Given the description of an element on the screen output the (x, y) to click on. 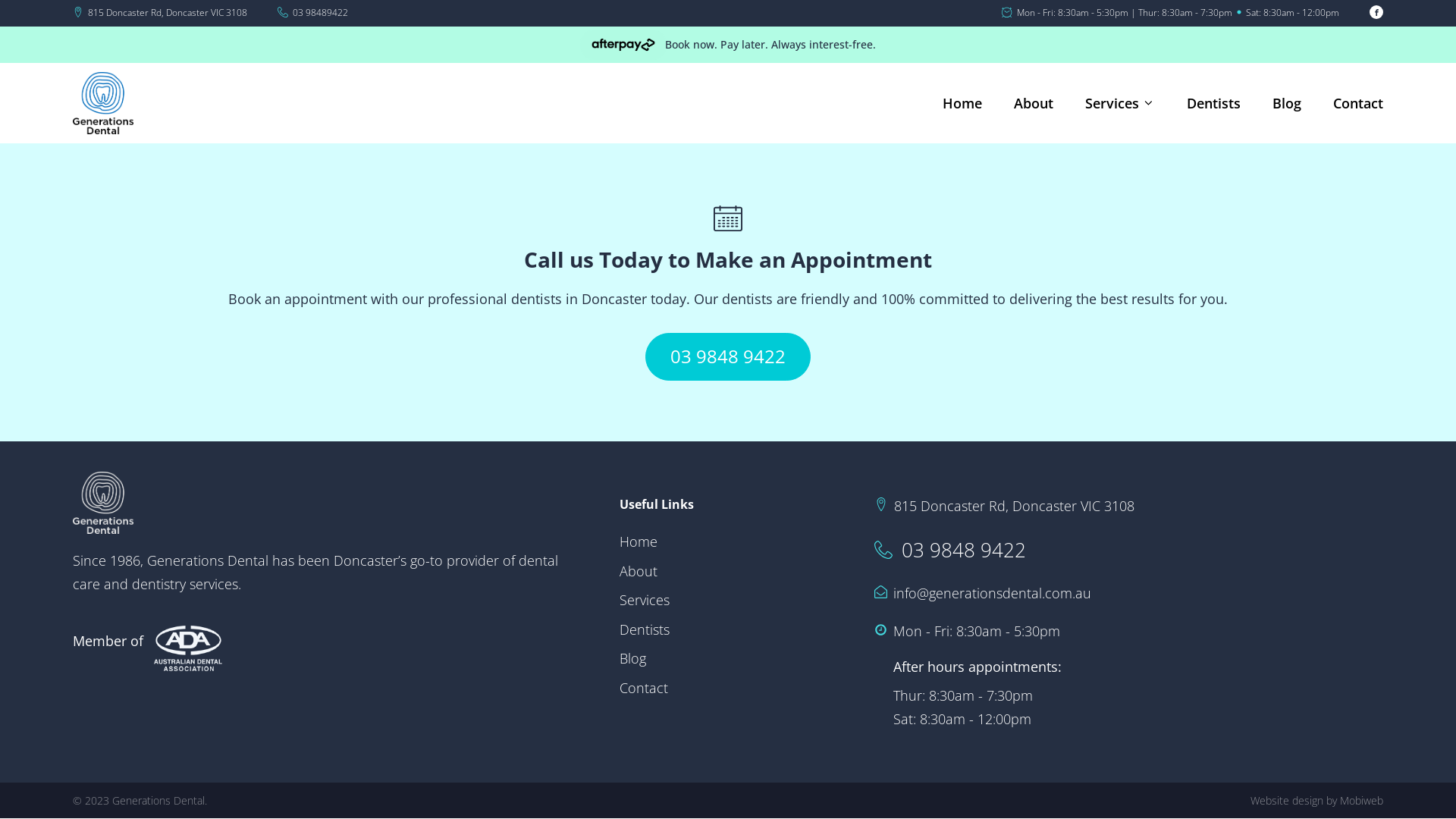
Website design by Mobiweb Element type: text (1316, 800)
Services Element type: text (644, 599)
Services Element type: text (1119, 103)
815 Doncaster Rd, Doncaster VIC 3108 Element type: text (167, 11)
info@generationsdental.com.au Element type: text (992, 593)
Contact Element type: text (644, 687)
Home Element type: text (644, 541)
Contact Element type: text (1358, 103)
Dentists Element type: text (1213, 103)
Home Element type: text (962, 103)
03 98489422 Element type: text (320, 11)
Blog Element type: text (644, 658)
Dentists Element type: text (644, 629)
815 Doncaster Rd, Doncaster VIC 3108 Element type: text (1014, 505)
About Element type: text (1033, 103)
Blog Element type: text (1286, 103)
About Element type: text (644, 571)
03 9848 9422 Element type: text (727, 356)
03 9848 9422 Element type: text (963, 548)
